Given the description of an element on the screen output the (x, y) to click on. 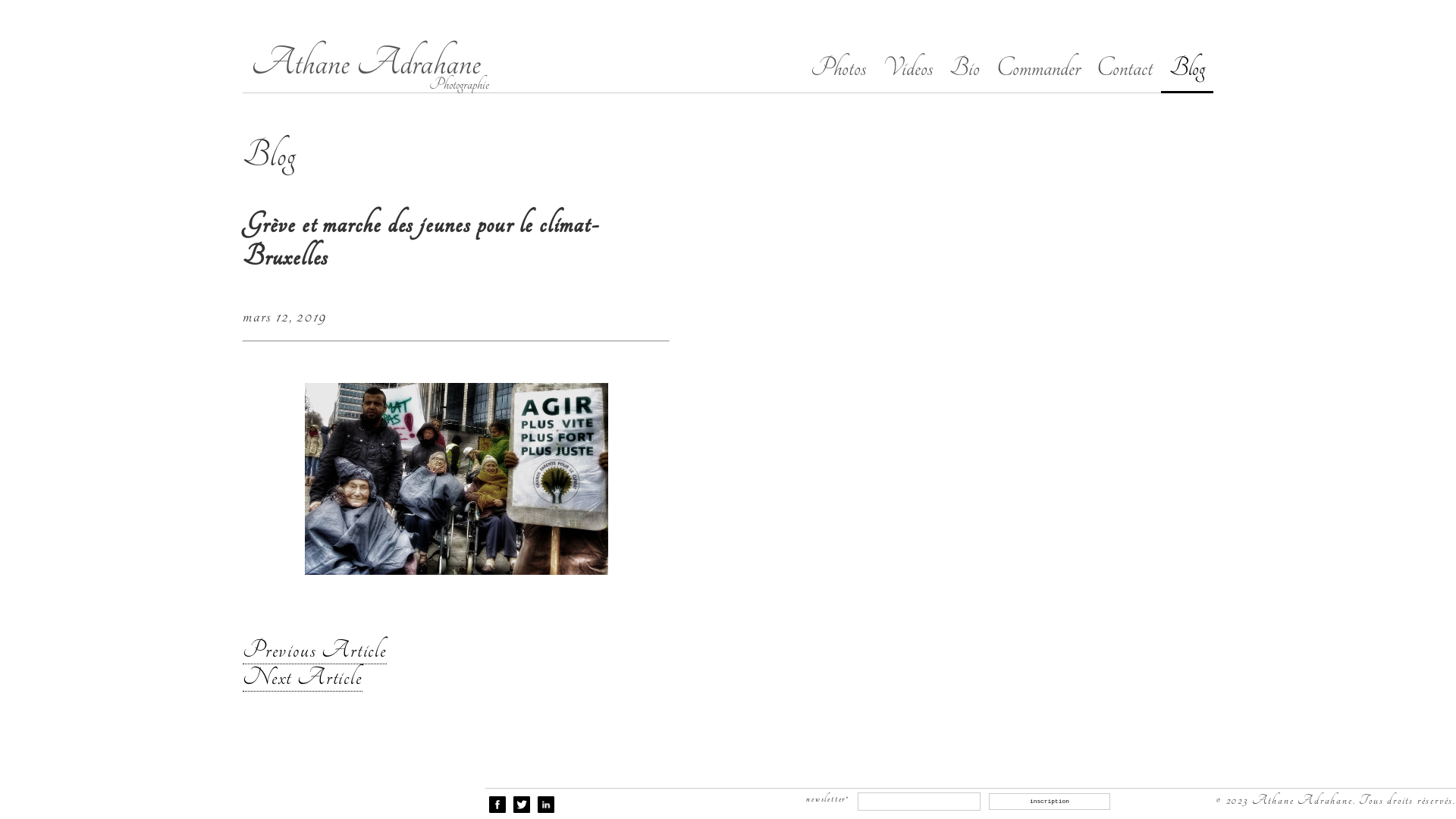
Contact Element type: text (1124, 67)
Bio Element type: text (964, 67)
Next Article Element type: text (302, 677)
Previous Article Element type: text (314, 650)
Blog Element type: text (1187, 68)
Videos Element type: text (907, 67)
Commander Element type: text (1038, 67)
Photos Element type: text (838, 67)
Athane Adrahane Element type: text (365, 62)
inscription Element type: text (1049, 801)
